Given the description of an element on the screen output the (x, y) to click on. 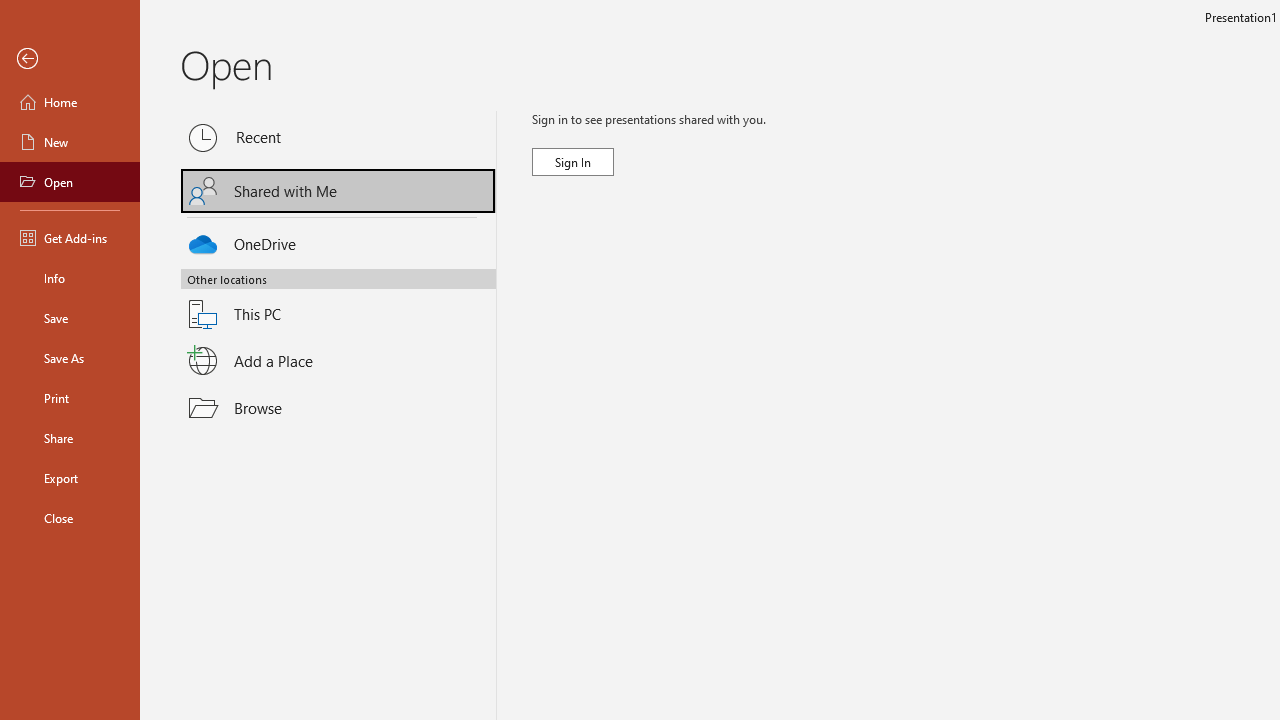
Export (69, 477)
OneDrive (338, 240)
Save As (69, 357)
New (69, 141)
